Given the description of an element on the screen output the (x, y) to click on. 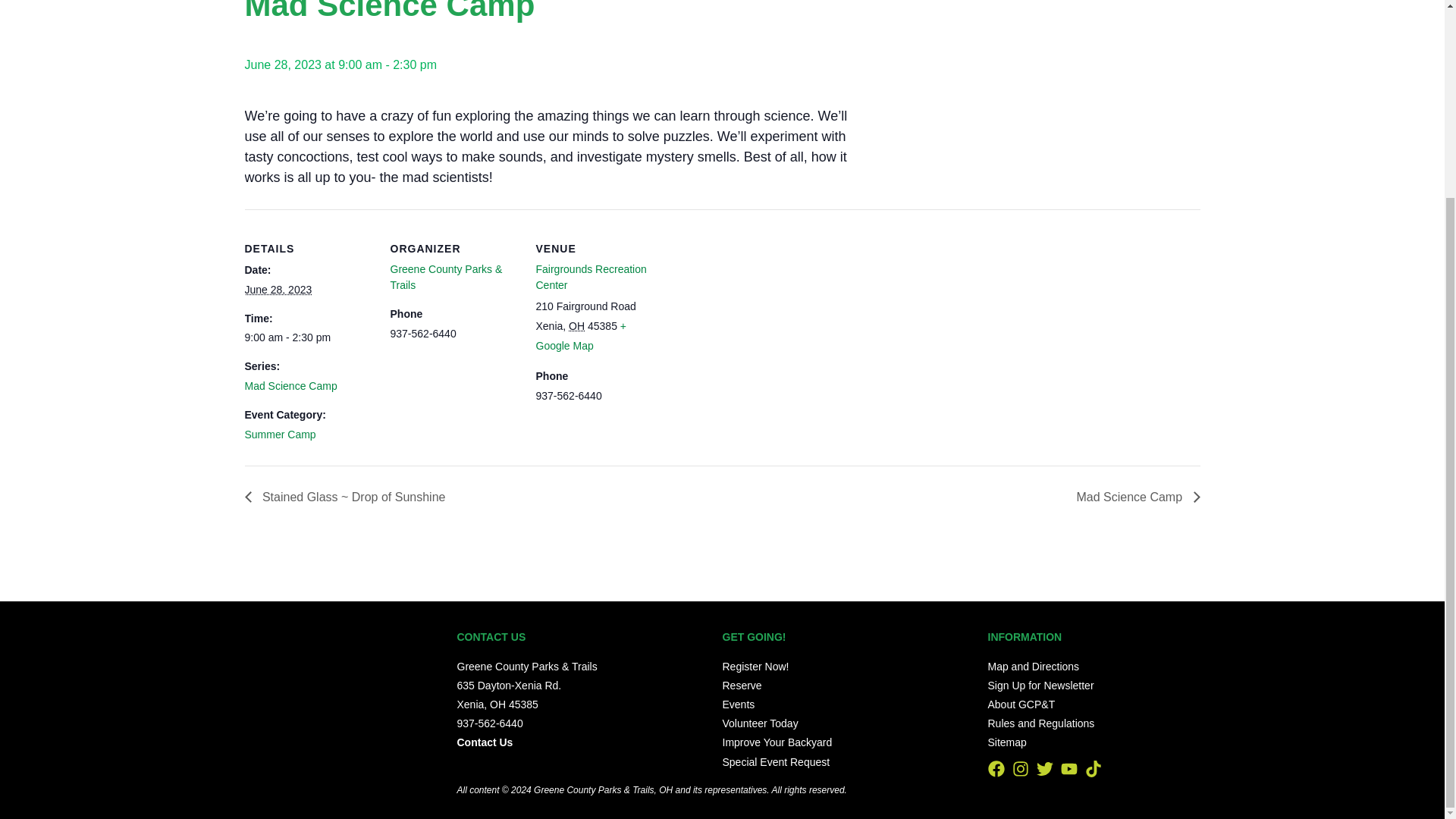
Ohio (577, 326)
2023-06-28 (277, 289)
2023-06-28 (307, 337)
Click to view a Google Map (580, 336)
Mad Science Camp (290, 386)
